Given the description of an element on the screen output the (x, y) to click on. 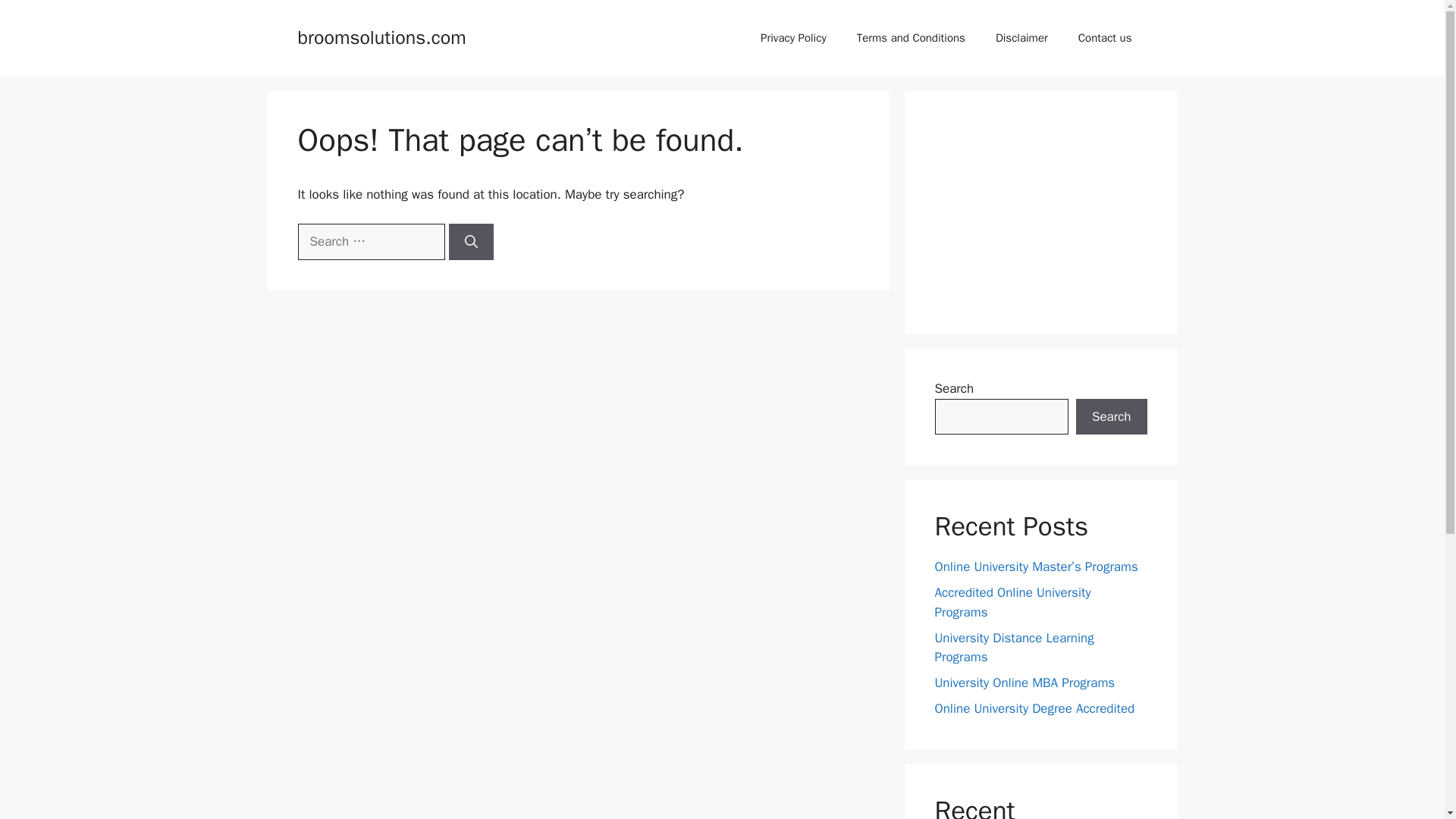
Disclaimer (1020, 37)
broomsolutions.com (381, 37)
Online University Degree Accredited (1034, 708)
Search for: (370, 241)
Contact us (1104, 37)
Accredited Online University Programs (1012, 601)
University Distance Learning Programs (1013, 647)
Search (1111, 416)
University Online MBA Programs (1024, 682)
Privacy Policy (793, 37)
